Given the description of an element on the screen output the (x, y) to click on. 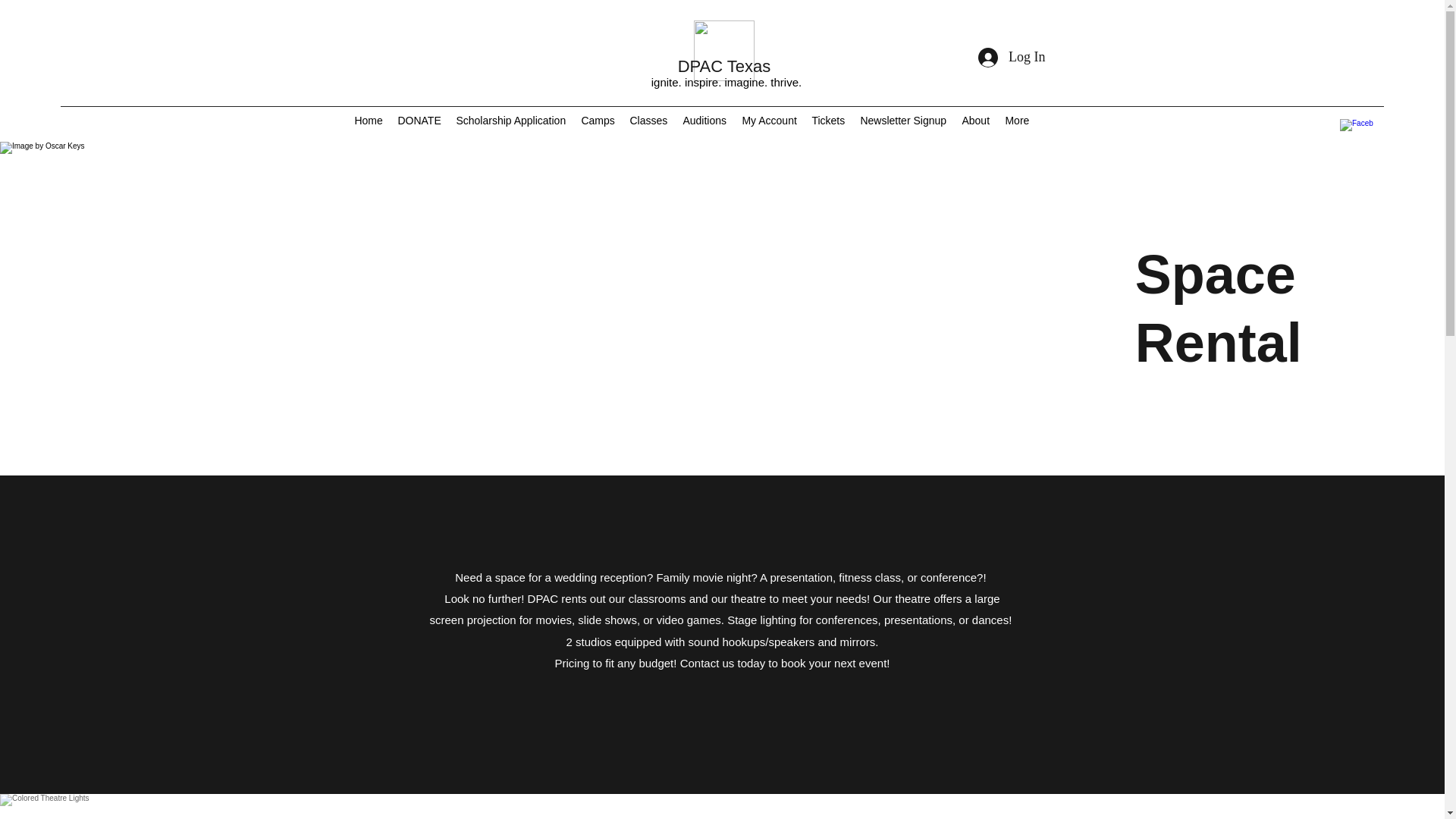
Newsletter Signup (902, 119)
Log In (1012, 57)
Tickets (827, 119)
DONATE (419, 119)
Camps (597, 119)
Classes (648, 119)
DPAC Texas (724, 66)
Auditions (704, 119)
Home (368, 119)
About (975, 119)
